Given the description of an element on the screen output the (x, y) to click on. 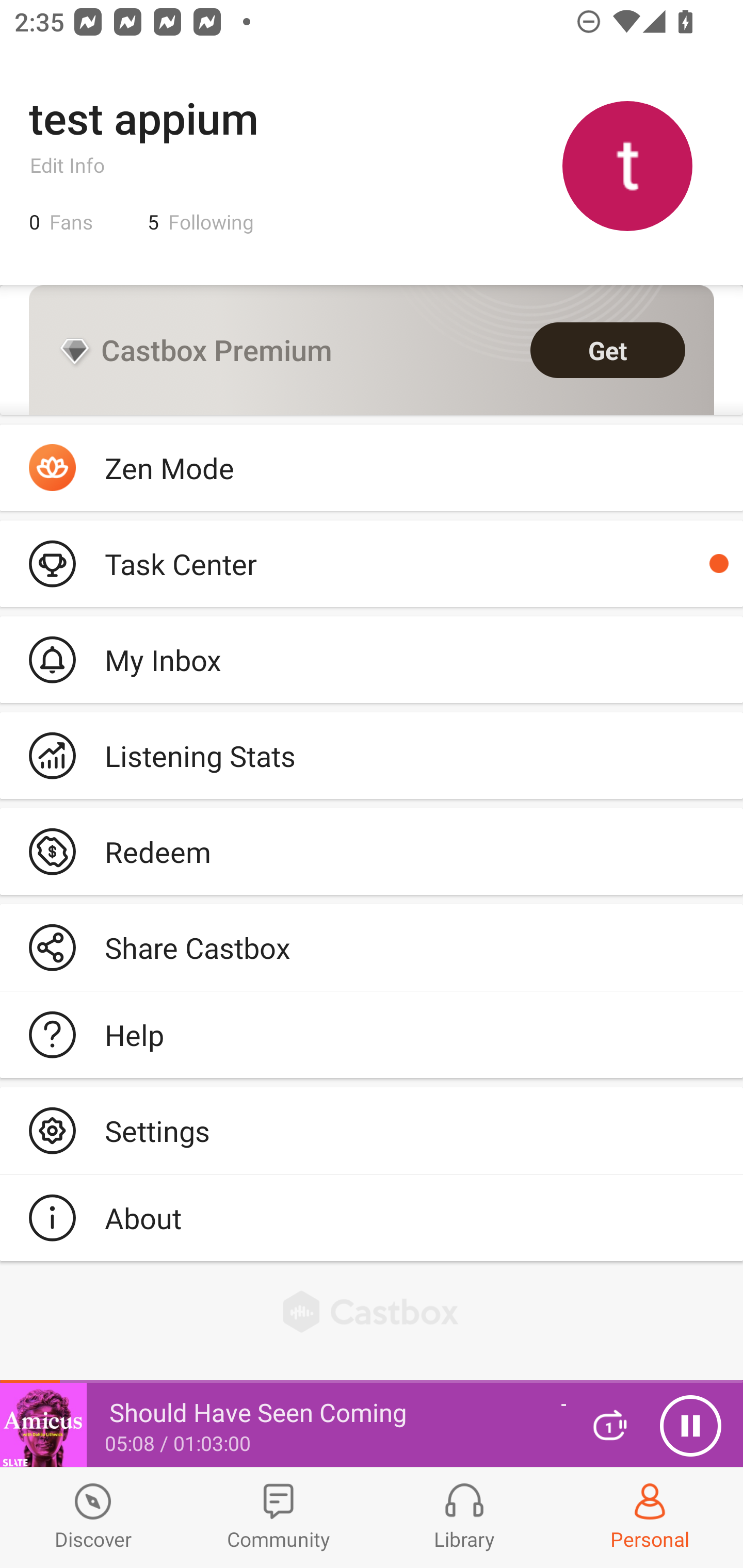
test appium Edit Info 0 Fans 5 Following (371, 165)
0 Fans (60, 221)
5 Following (200, 221)
Castbox Premium Get (371, 350)
Get (607, 350)
Zen Mode (371, 467)
Podcaster  Task Center (371, 563)
 My Inbox (371, 659)
 Listening Stats (371, 755)
 Redeem (371, 851)
 Share Castbox (371, 947)
 Help (371, 1034)
 Settings (371, 1130)
 About (371, 1217)
Pause (690, 1425)
Discover (92, 1517)
Community (278, 1517)
Library (464, 1517)
Profiles and Settings Personal (650, 1517)
